Given the description of an element on the screen output the (x, y) to click on. 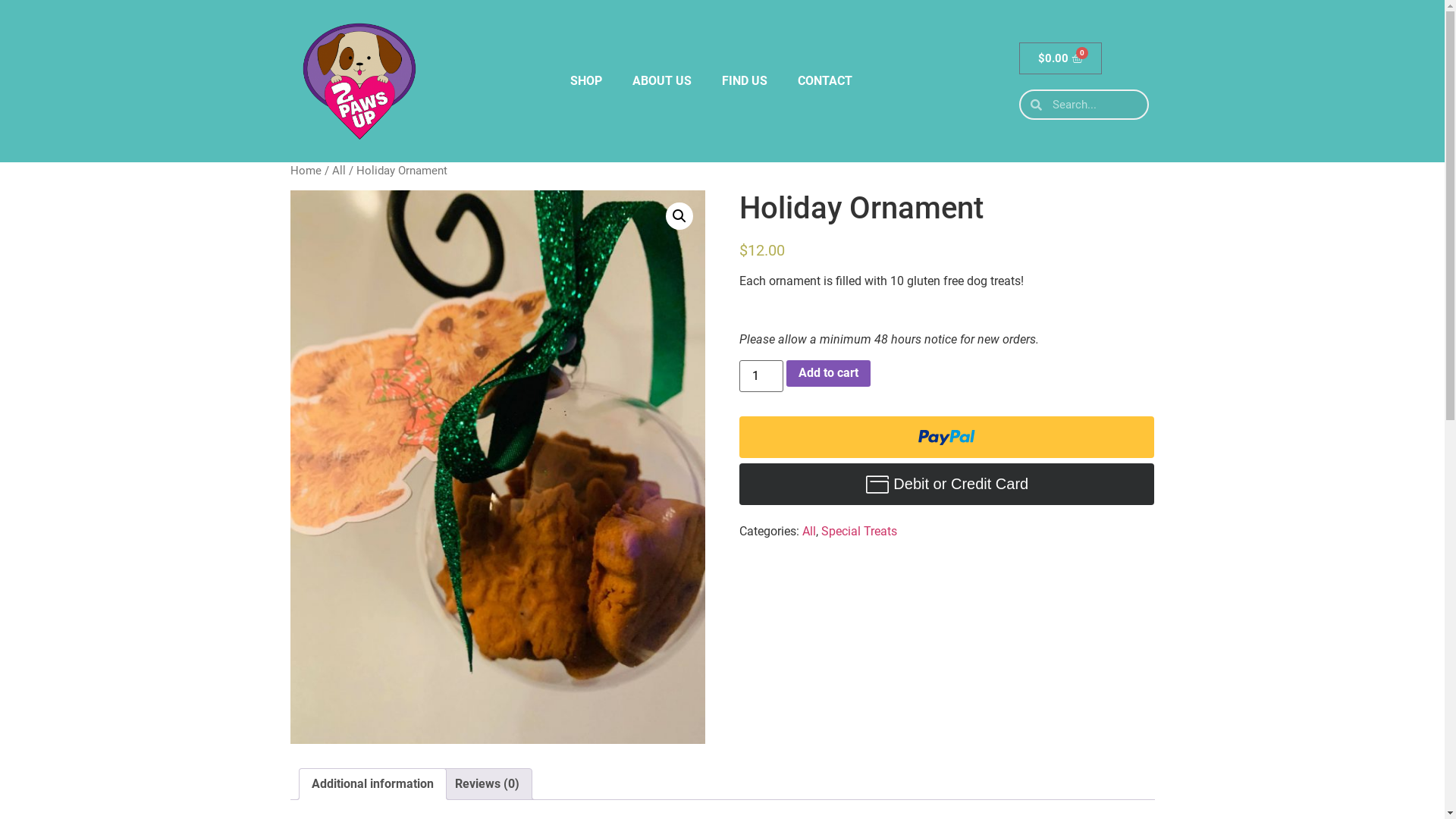
128626968_209892067363709_6443245595757519832_n Element type: hover (496, 466)
All Element type: text (808, 530)
Reviews (0) Element type: text (487, 783)
Add to cart Element type: text (828, 372)
FIND US Element type: text (744, 80)
PayPal Element type: hover (946, 483)
$0.00
0 Element type: text (1060, 58)
Additional information Element type: text (371, 783)
Special Treats Element type: text (859, 530)
ABOUT US Element type: text (661, 80)
Home Element type: text (304, 170)
All Element type: text (338, 170)
PayPal Element type: hover (946, 436)
CONTACT Element type: text (824, 80)
SHOP Element type: text (586, 80)
